Given the description of an element on the screen output the (x, y) to click on. 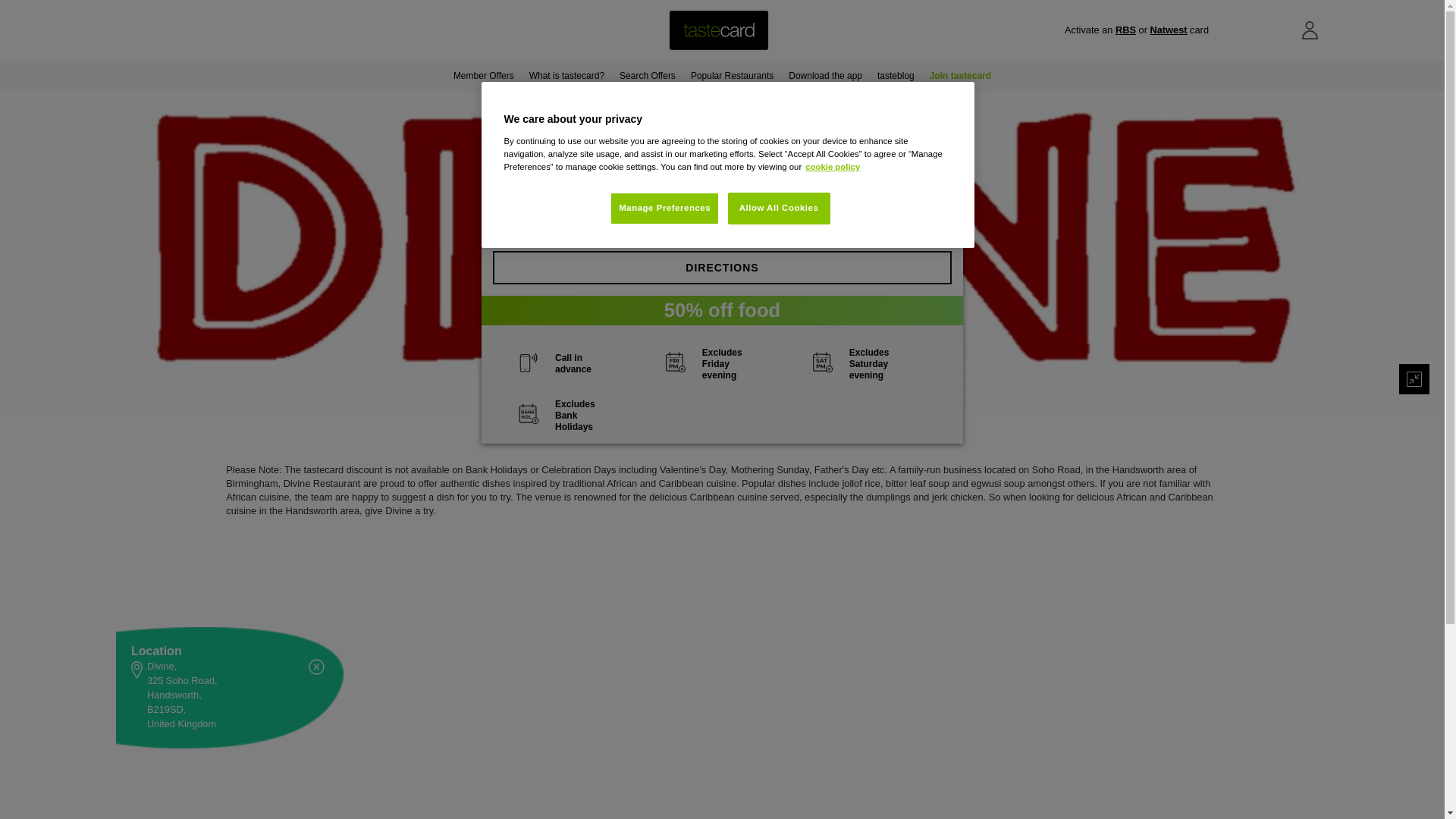
RBS (1125, 30)
Search Offers (646, 75)
Member Offers (483, 75)
Popular Restaurants (731, 75)
Natwest (1168, 30)
What is tastecard? (566, 75)
